Given the description of an element on the screen output the (x, y) to click on. 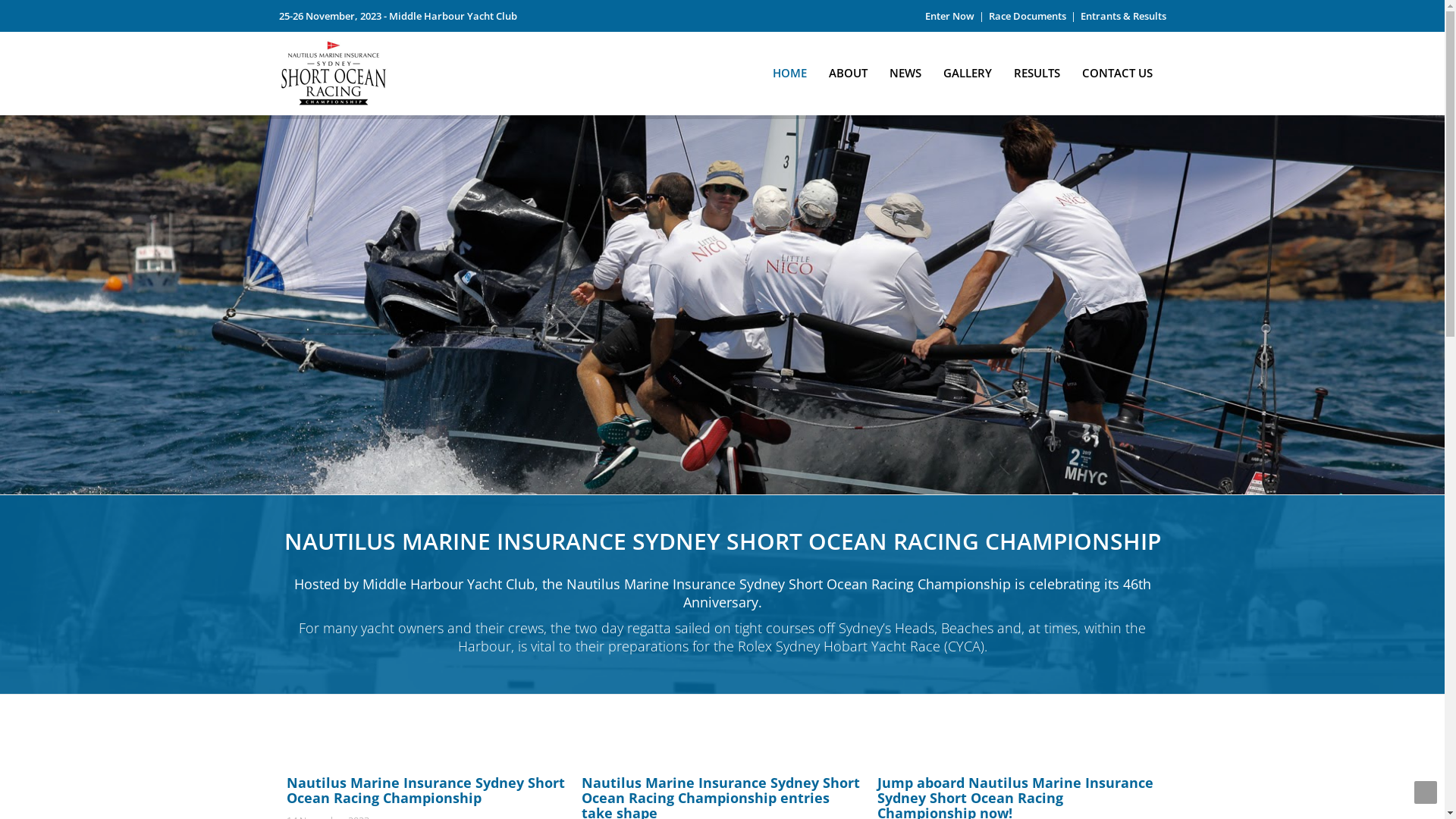
ABOUT Element type: text (847, 68)
HOME Element type: text (789, 68)
Goto Top Element type: hover (1425, 792)
Race Documents Element type: text (1027, 15)
NEWS Element type: text (905, 68)
Entrants & Results Element type: text (1122, 15)
Enter Now Element type: text (949, 15)
CONTACT US Element type: text (1117, 68)
RESULTS Element type: text (1036, 68)
GALLERY Element type: text (967, 68)
